Given the description of an element on the screen output the (x, y) to click on. 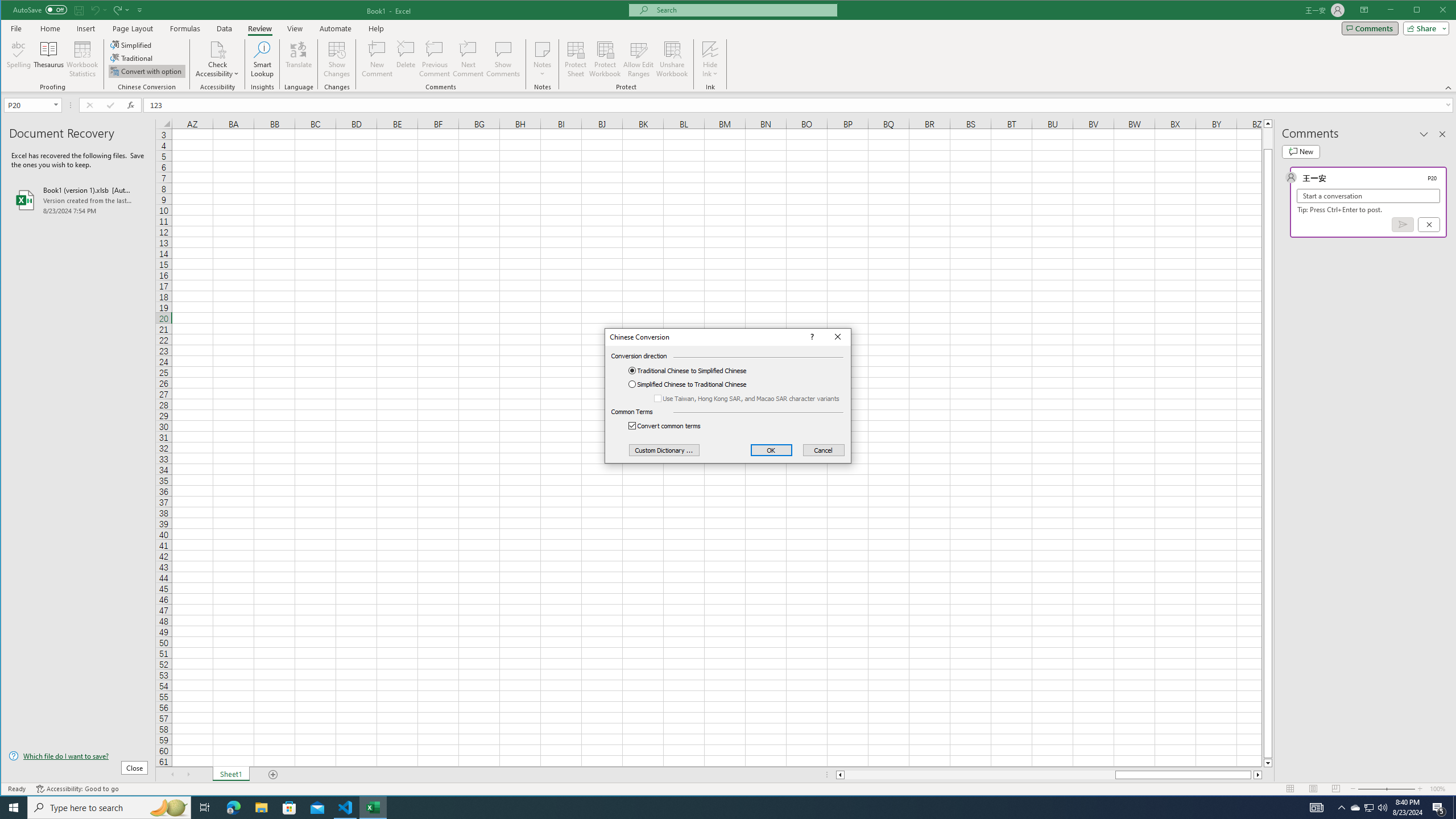
Convert common terms (670, 425)
Start a conversation (1368, 195)
Close pane (1441, 133)
New Comment (377, 59)
Allow Edit Ranges (638, 59)
